Given the description of an element on the screen output the (x, y) to click on. 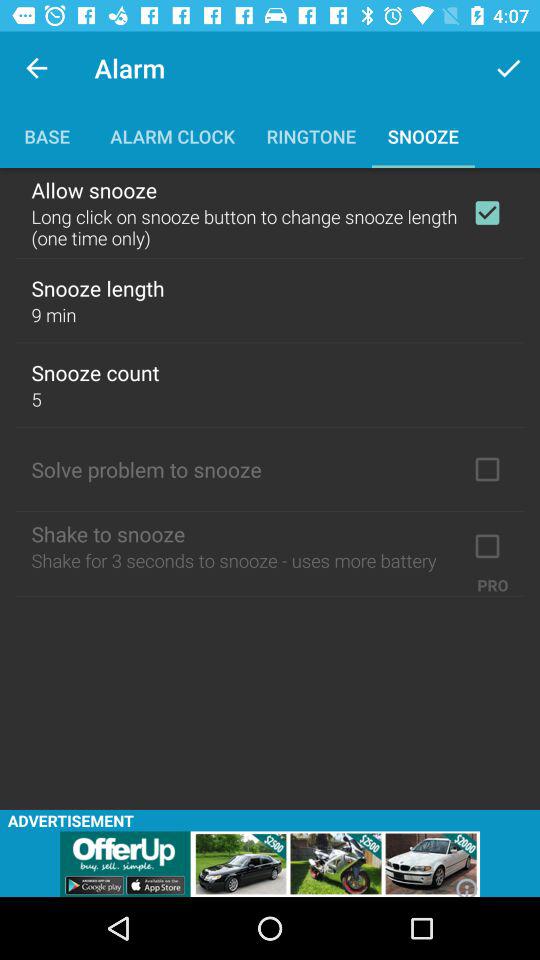
allow snooze check box (487, 213)
